Given the description of an element on the screen output the (x, y) to click on. 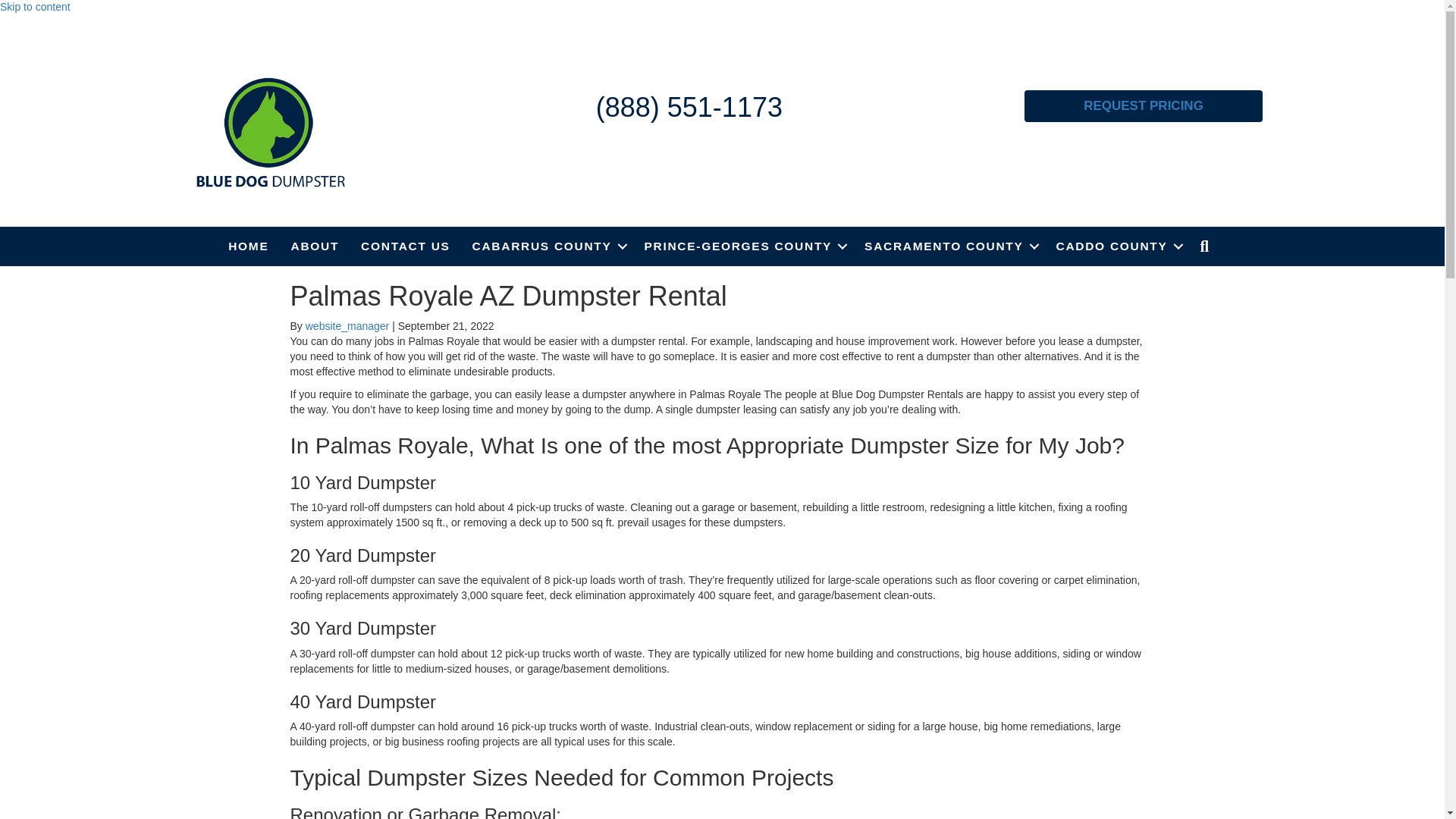
ABOUT (315, 246)
Skip to content (34, 6)
CABARRUS COUNTY (547, 246)
HOME (247, 246)
PRINCE-GEORGES COUNTY (743, 246)
bluedogdumpster (269, 131)
REQUEST PRICING (1144, 106)
SACRAMENTO COUNTY (948, 246)
CONTACT US (405, 246)
